Given the description of an element on the screen output the (x, y) to click on. 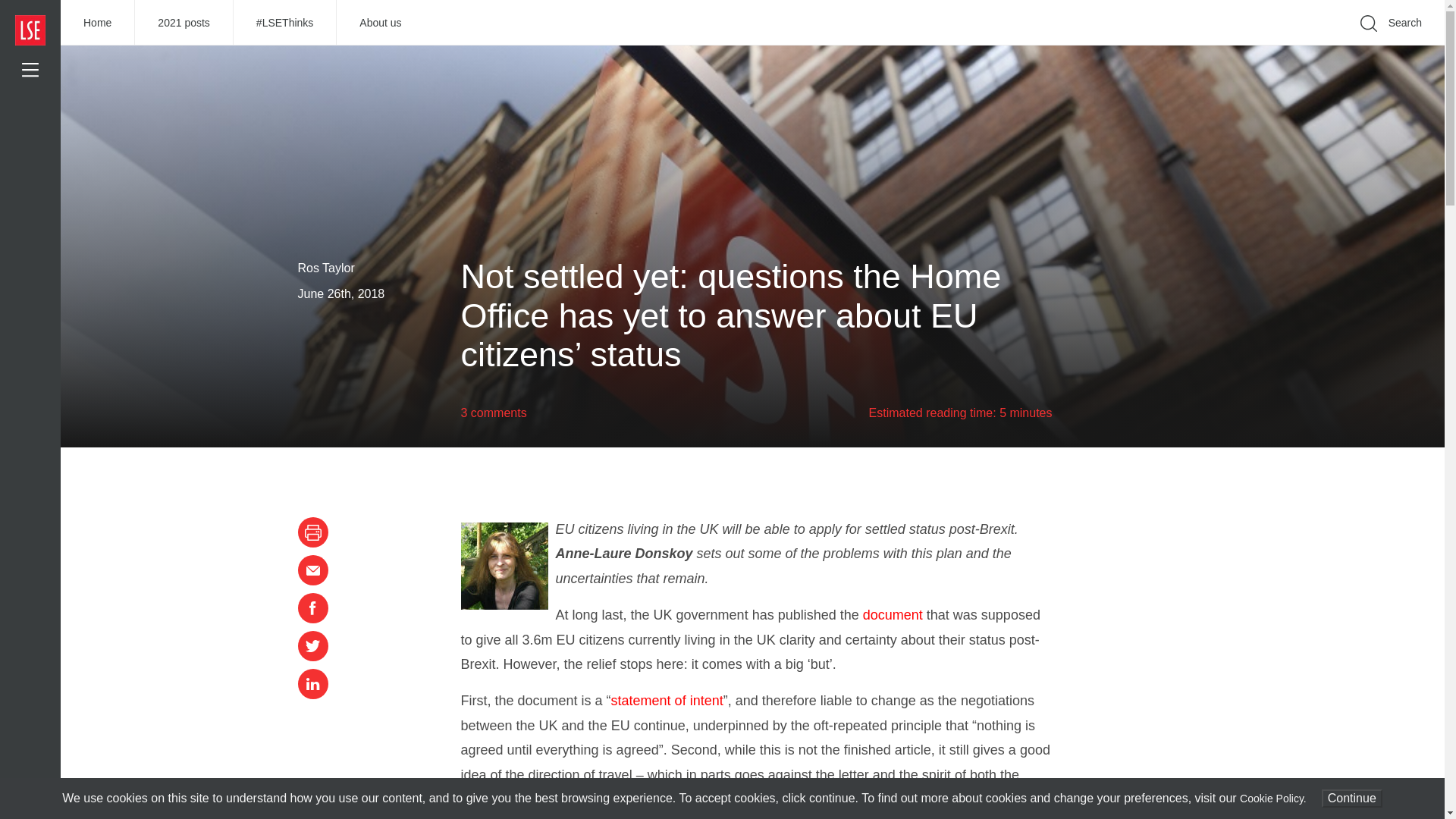
document (893, 614)
statement of intent (667, 700)
Go (1190, 44)
draft Withdrawal Agreement (772, 798)
Home (98, 22)
About us (379, 22)
2021 posts (183, 22)
December 2017 Joint Report (547, 798)
